Given the description of an element on the screen output the (x, y) to click on. 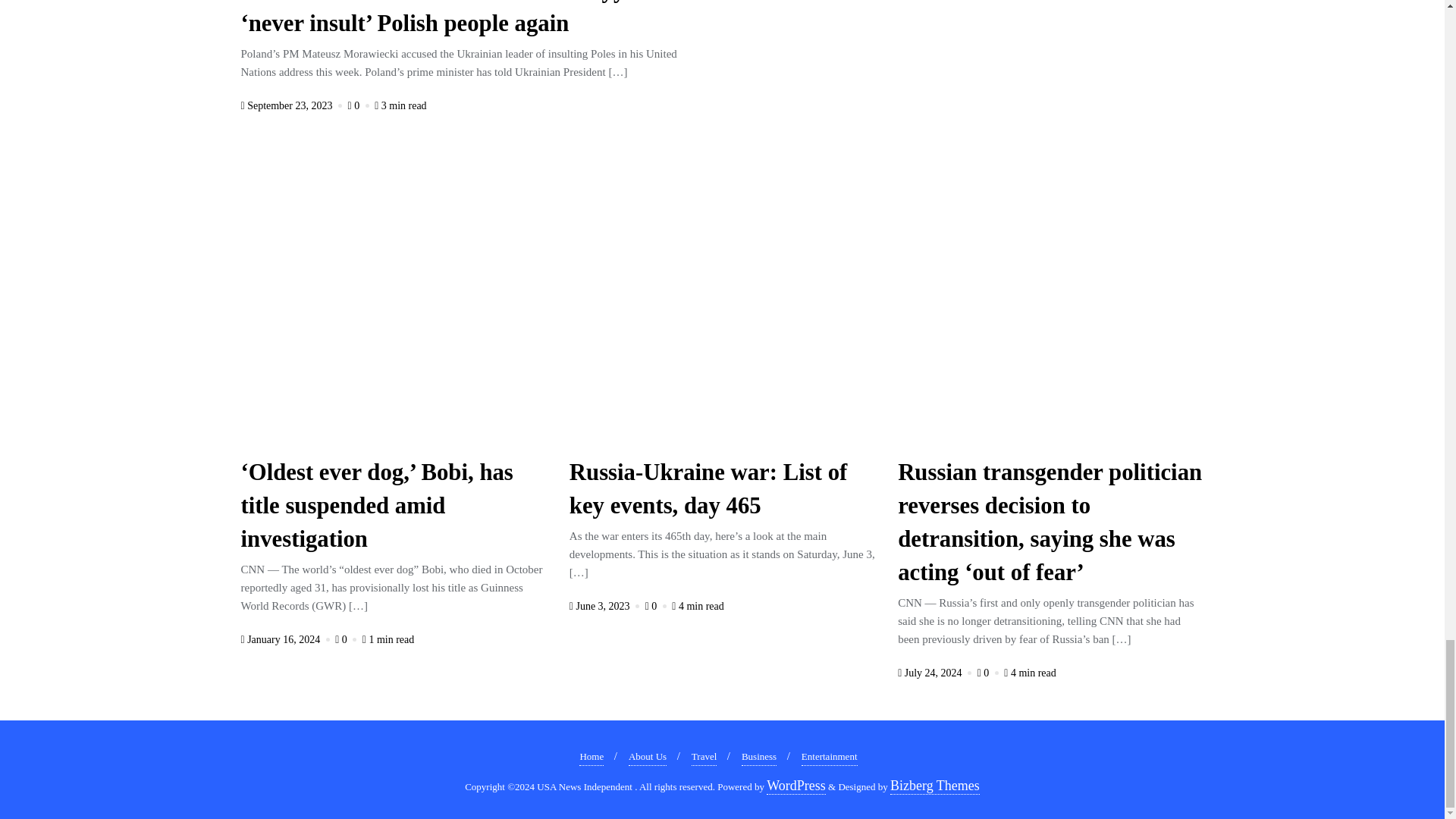
3 min read (400, 105)
0 (359, 105)
September 23, 2023 (293, 105)
